Given the description of an element on the screen output the (x, y) to click on. 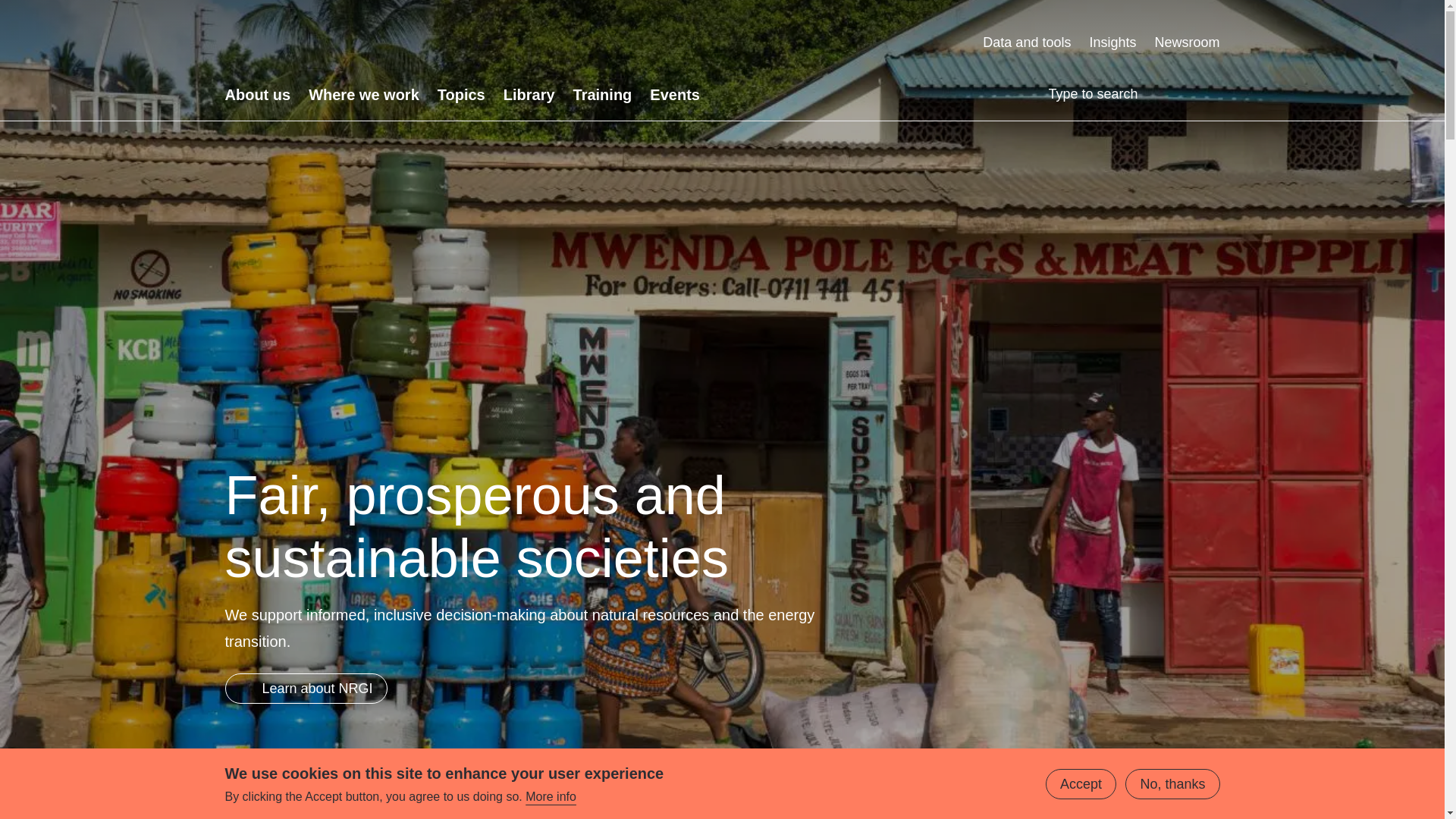
Data and tools (1026, 42)
Newsroom (1187, 42)
Topics (461, 94)
Return to the homepage (368, 42)
Insights (1112, 42)
About us (256, 94)
Learn about NRGI (305, 688)
Where we work (363, 94)
